Given the description of an element on the screen output the (x, y) to click on. 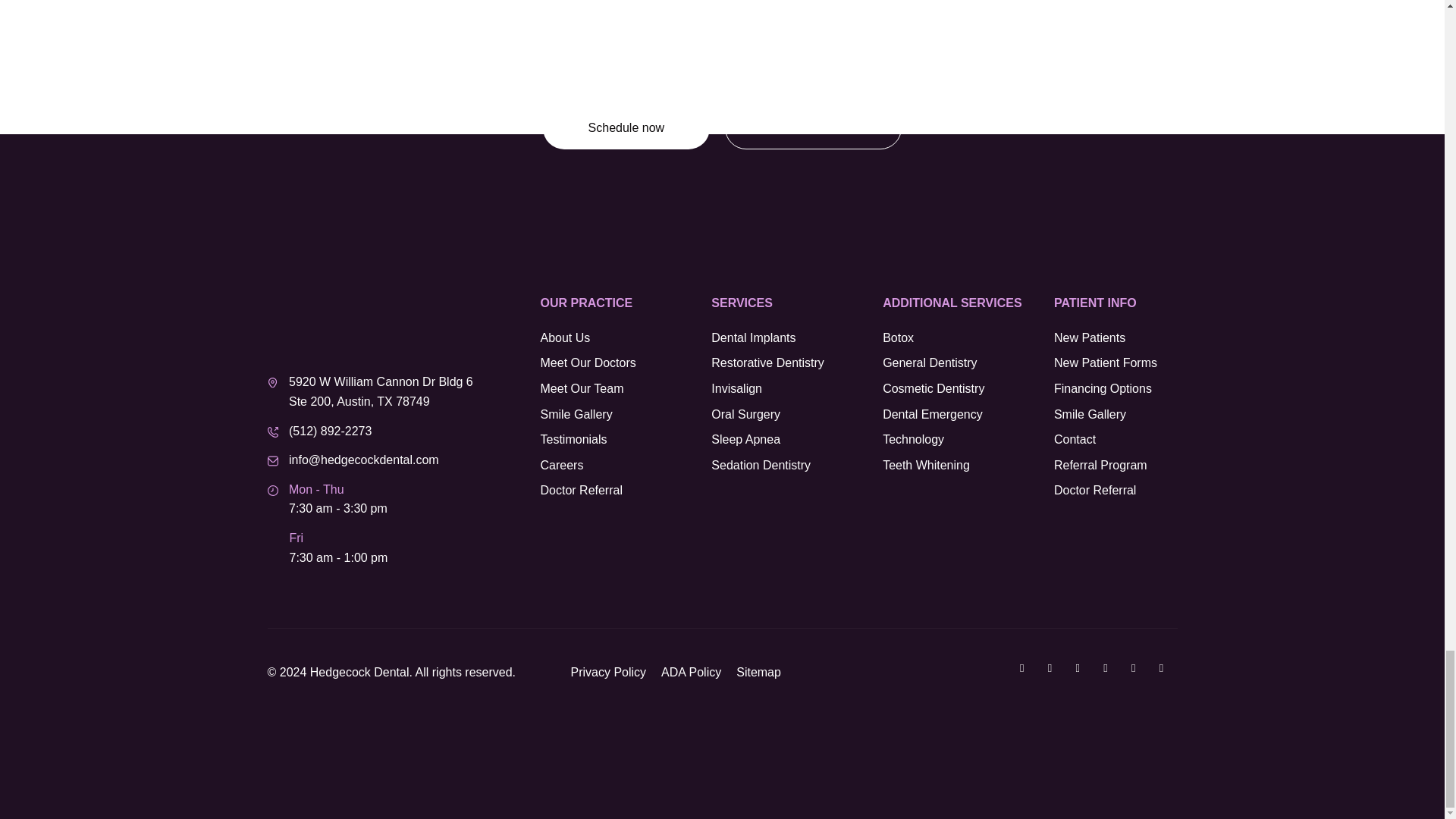
Smile Gallery (625, 414)
About Us (625, 338)
Testimonials (625, 439)
Meet Our Team (625, 388)
Schedule now (813, 128)
Meet Our Doctors (625, 362)
Schedule now (626, 128)
